Given the description of an element on the screen output the (x, y) to click on. 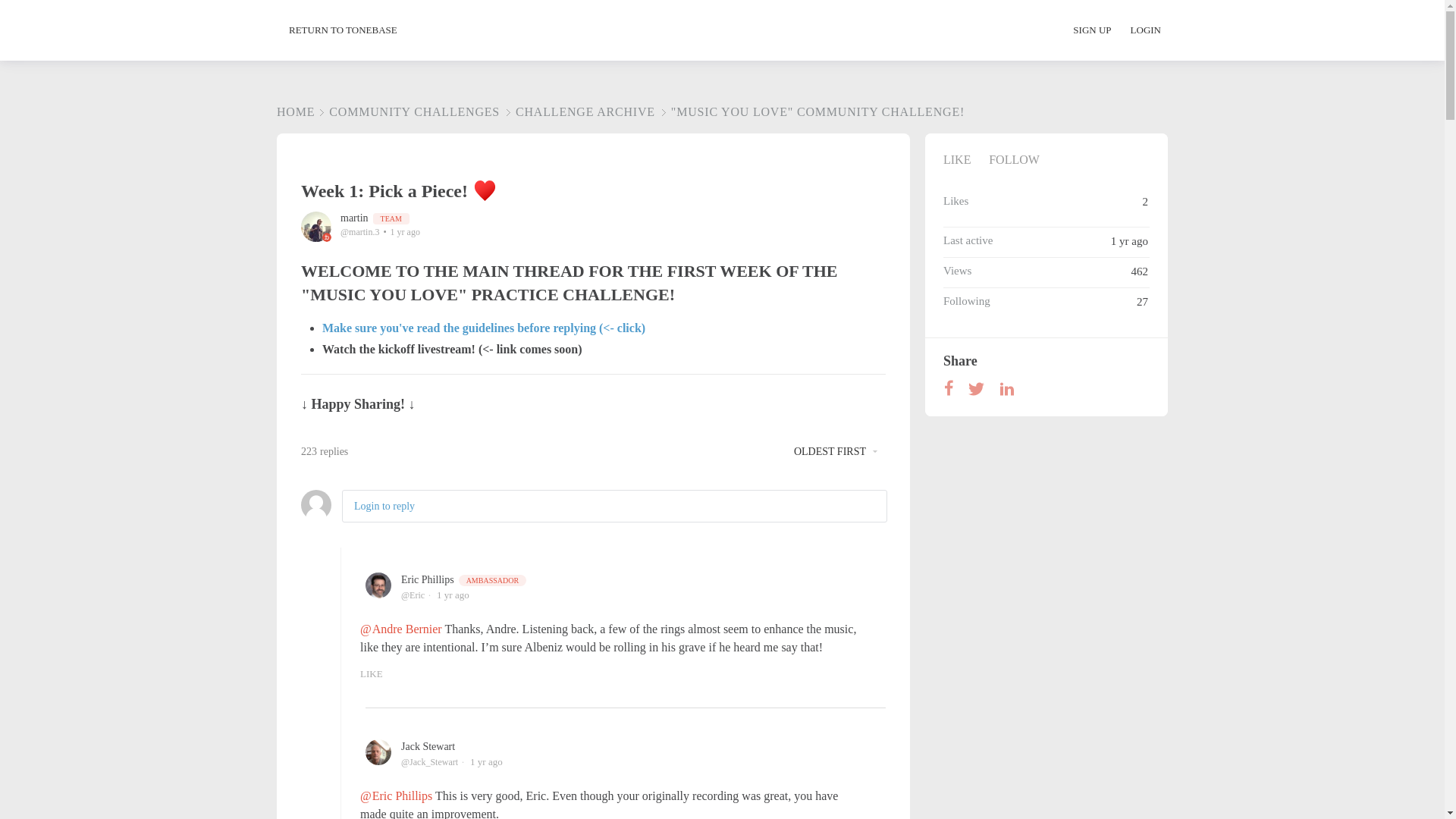
Jack Stewart (427, 746)
SIGN UP (1099, 30)
martinTEAM (375, 217)
COMMUNITY CHALLENGES (407, 111)
Eric PhillipsAMBASSADOR (464, 579)
RETURN TO TONEBASE (342, 30)
Login to reply (383, 505)
"MUSIC YOU LOVE" COMMUNITY CHALLENGE! (811, 111)
HOME (295, 111)
LOGIN (1145, 30)
